Given the description of an element on the screen output the (x, y) to click on. 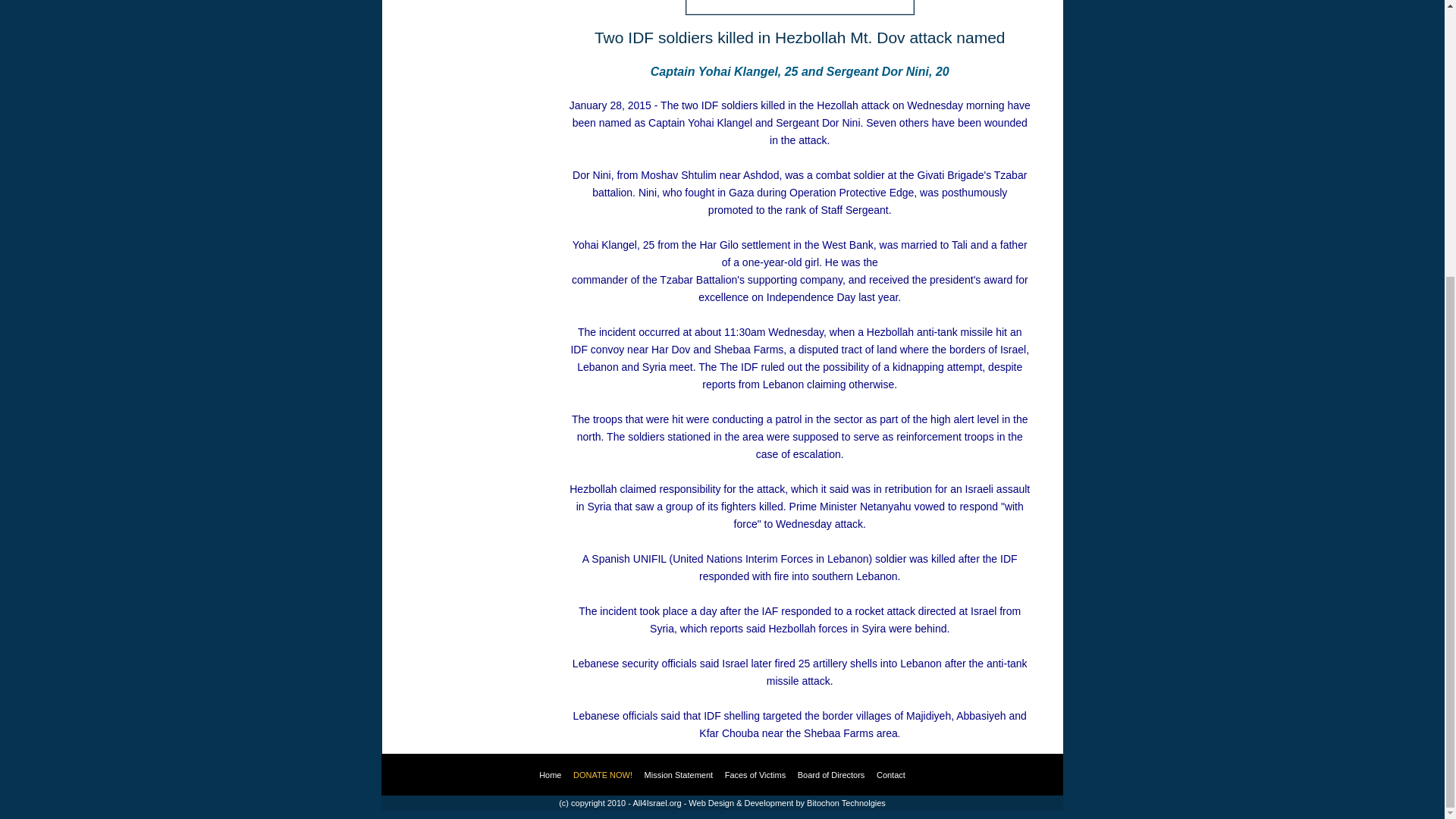
Home (549, 774)
DONATE NOW! (602, 774)
Faces of Victims (755, 774)
Mission Statement (679, 774)
Board of Directors (830, 774)
Contact (890, 774)
